Given the description of an element on the screen output the (x, y) to click on. 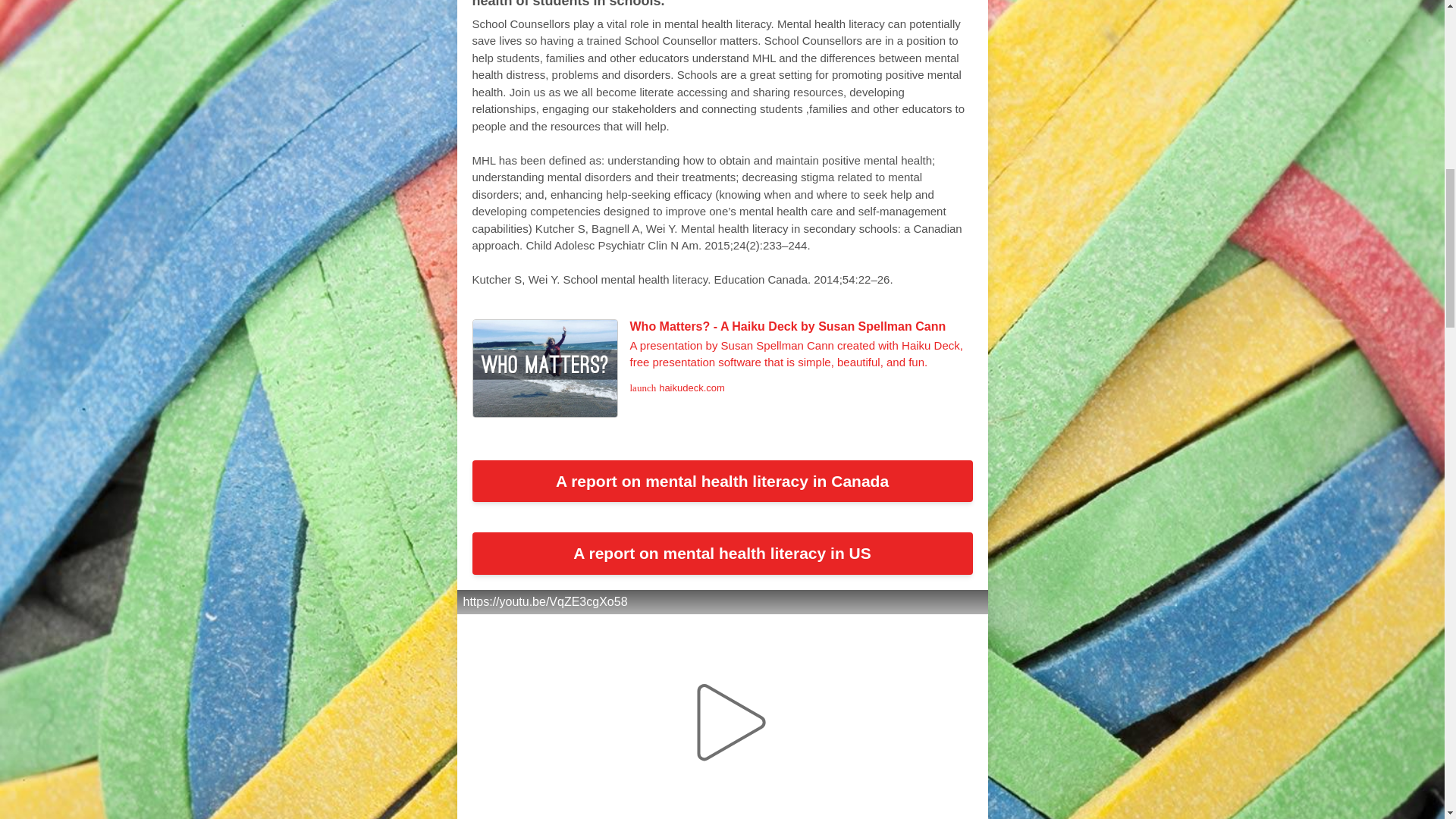
A report on mental health literacy in US (721, 553)
A report on mental health literacy in Canada (721, 480)
